Given the description of an element on the screen output the (x, y) to click on. 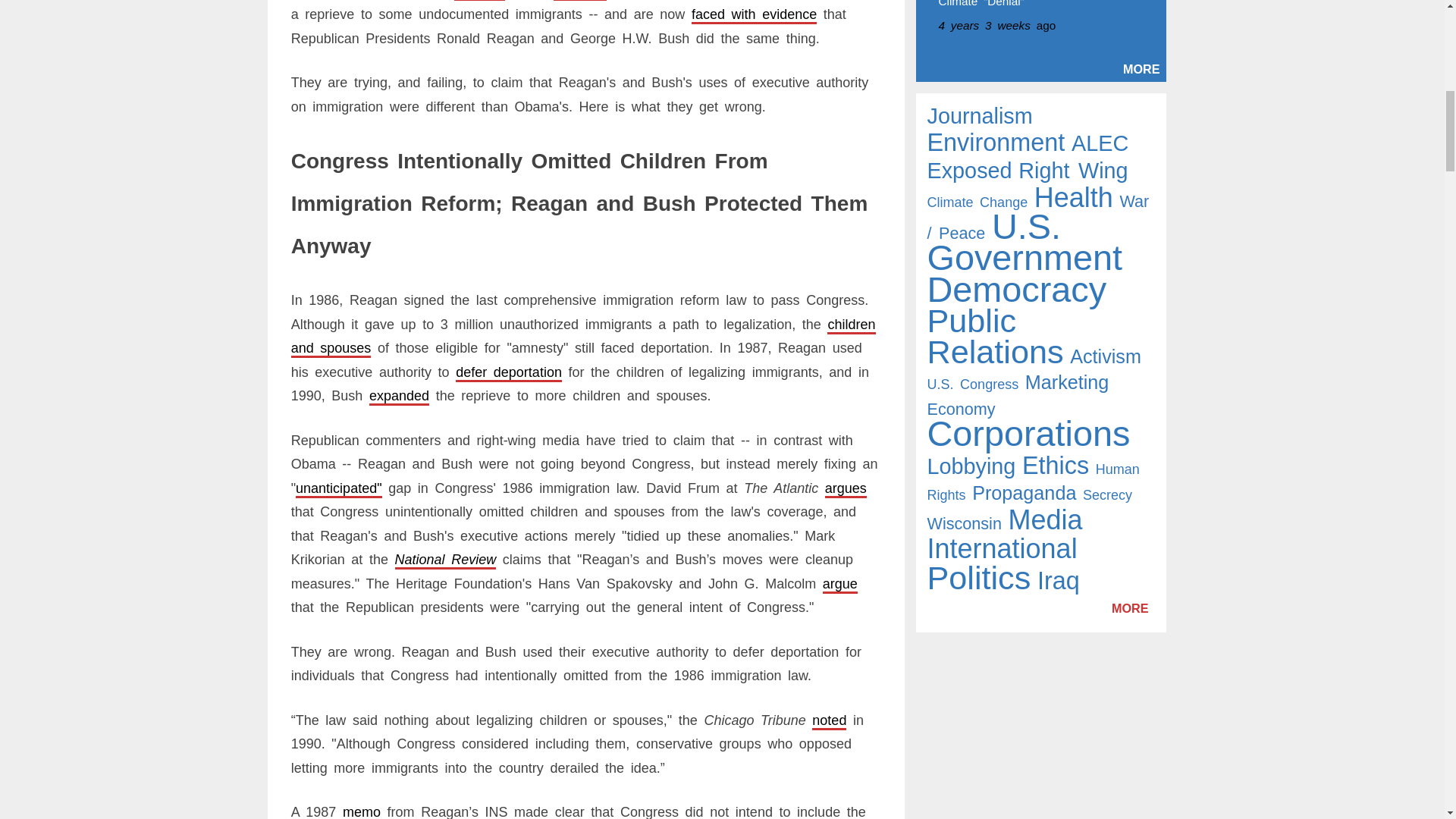
faced with evidence (753, 14)
memo (361, 811)
defer deportation (508, 372)
noted (828, 720)
unanticipated" (338, 488)
children and spouses (583, 336)
argues (845, 488)
expanded (399, 395)
argue (839, 583)
National Review (445, 559)
